Given the description of an element on the screen output the (x, y) to click on. 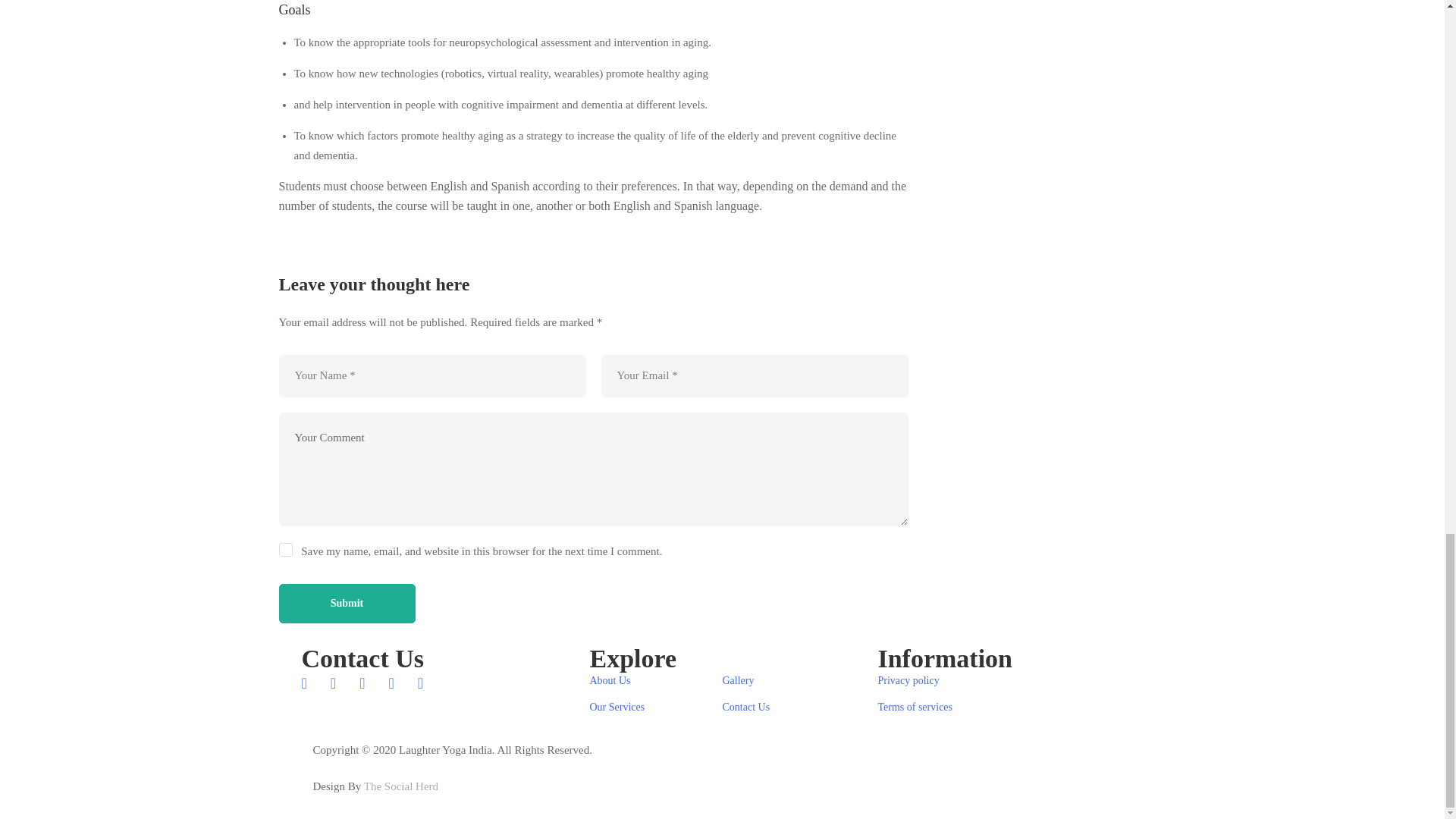
yes (285, 550)
Submit (346, 603)
Submit (346, 603)
